Given the description of an element on the screen output the (x, y) to click on. 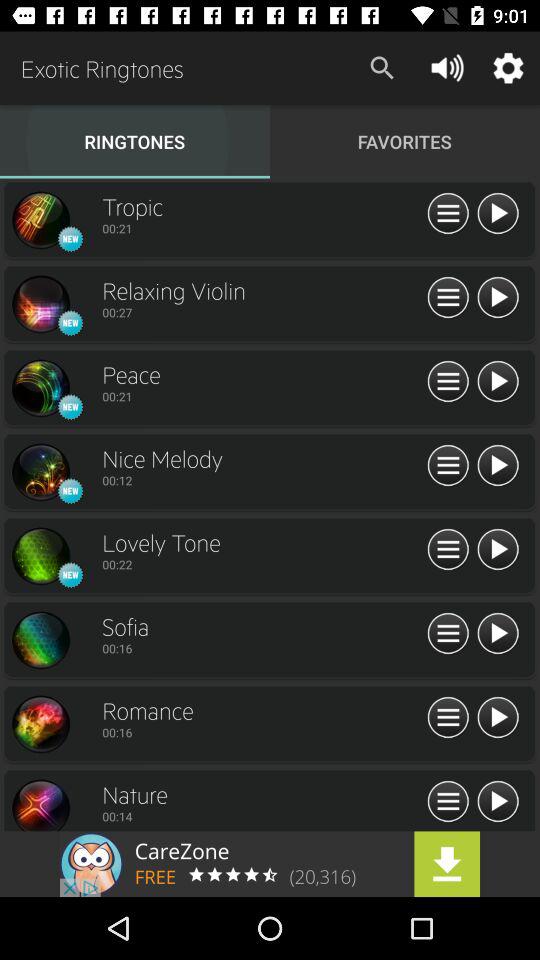
go to advertisement (497, 549)
